Given the description of an element on the screen output the (x, y) to click on. 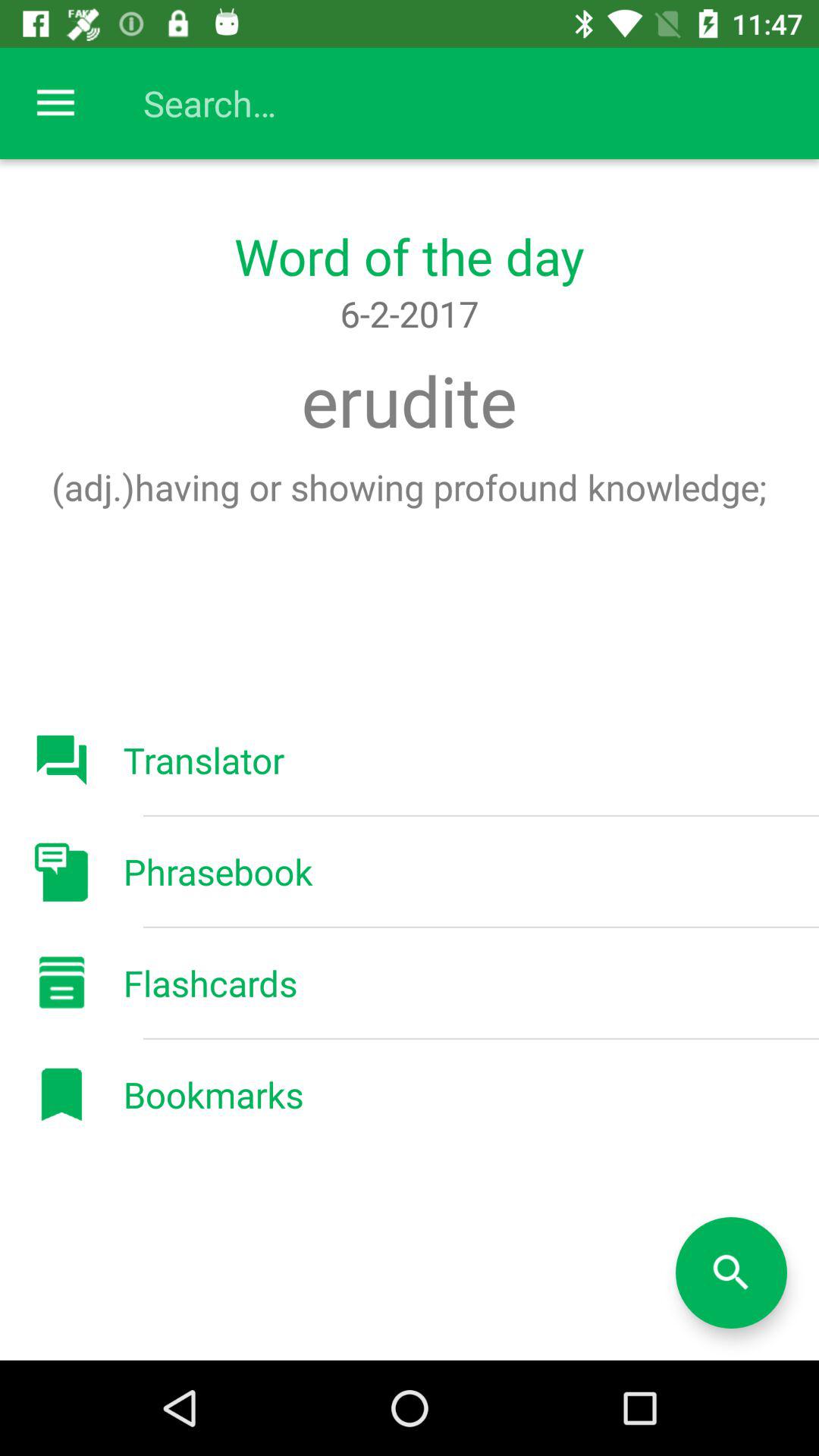
flip until bookmarks (213, 1094)
